Given the description of an element on the screen output the (x, y) to click on. 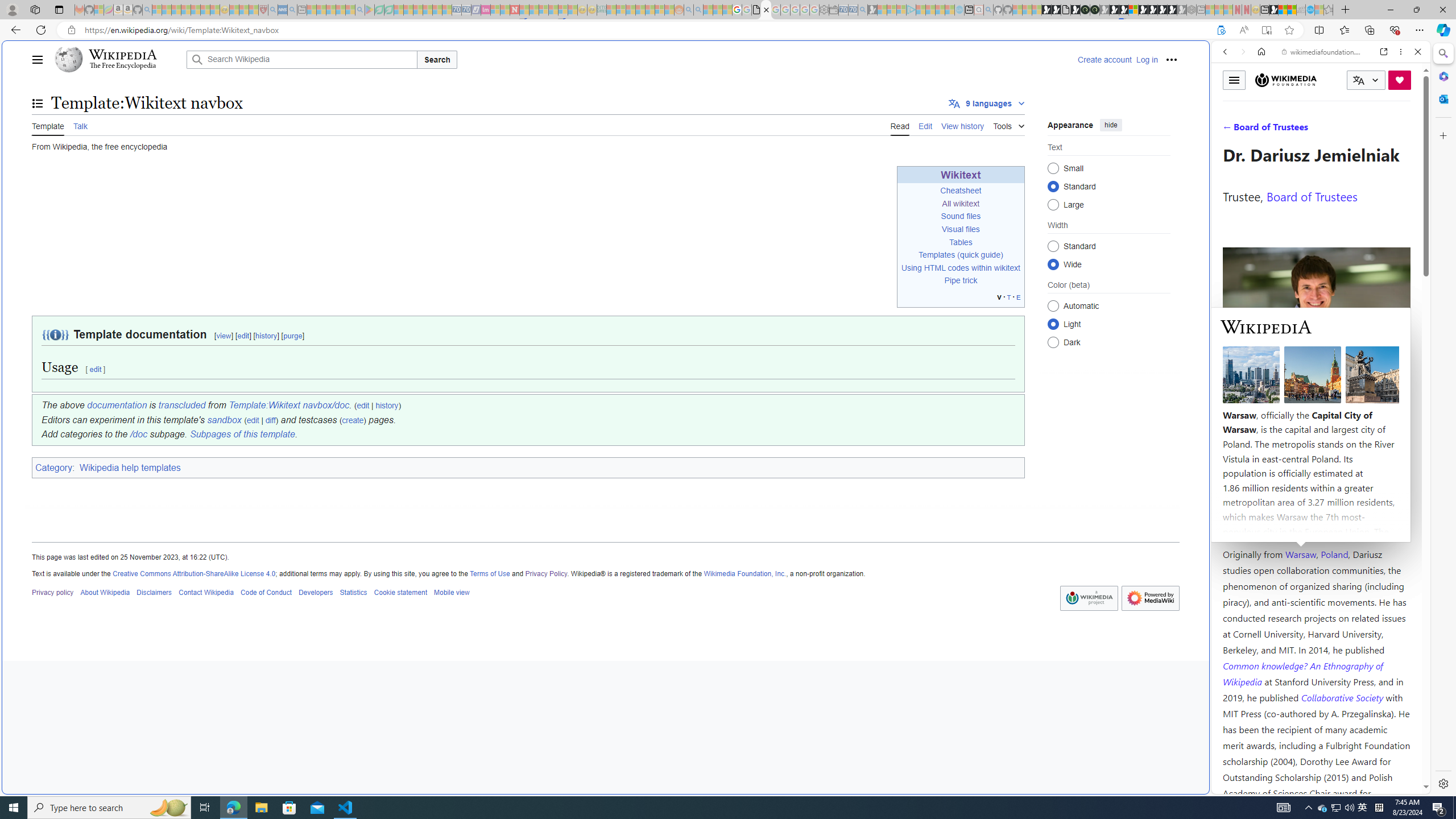
Mobile view (451, 592)
Create account (1104, 58)
Wikimedia Foundation (1285, 79)
hide (1110, 124)
Class: i icon icon-translate language-switcher__icon (1358, 80)
